Given the description of an element on the screen output the (x, y) to click on. 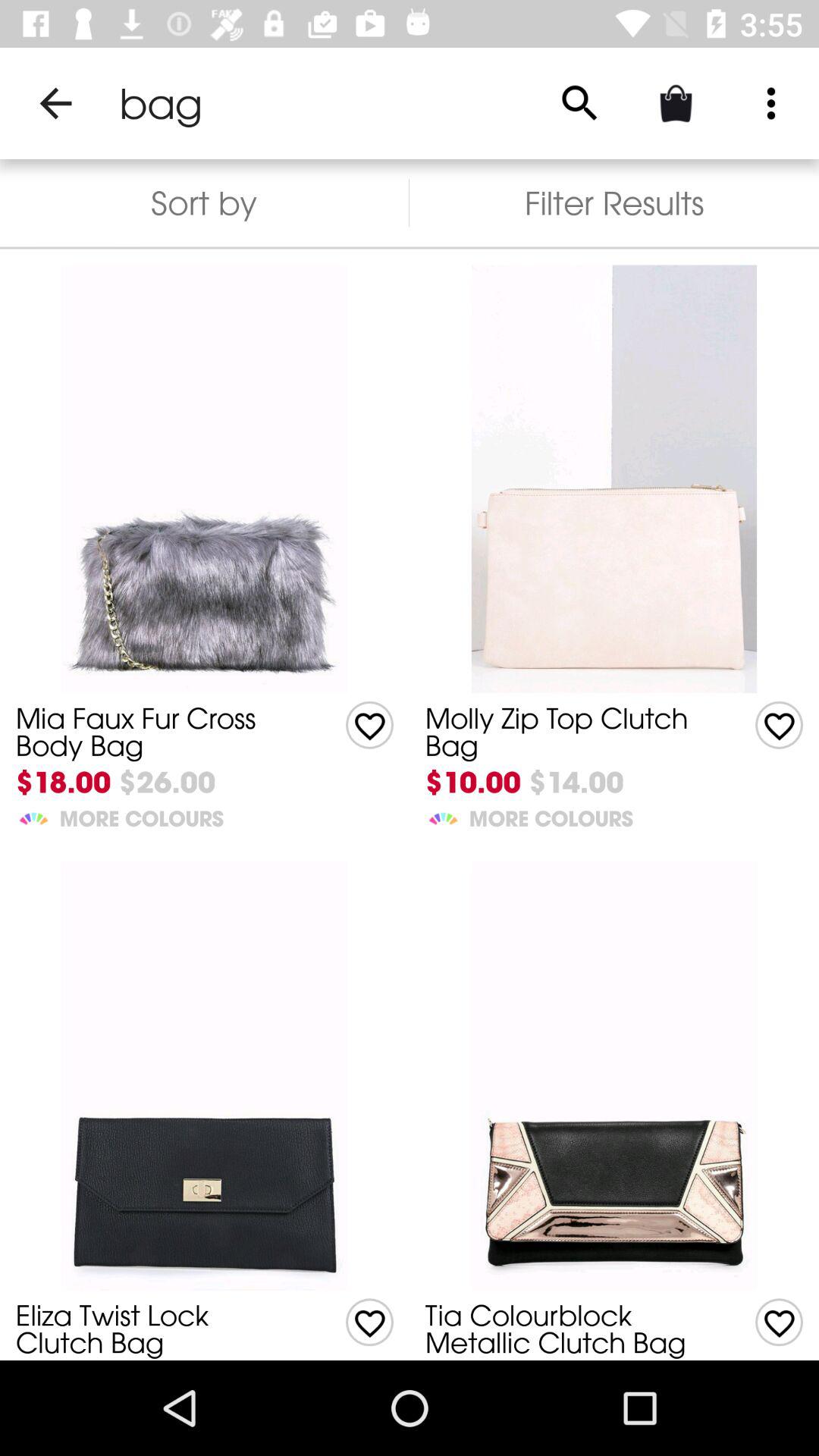
click item above $18.00 icon (157, 731)
